Given the description of an element on the screen output the (x, y) to click on. 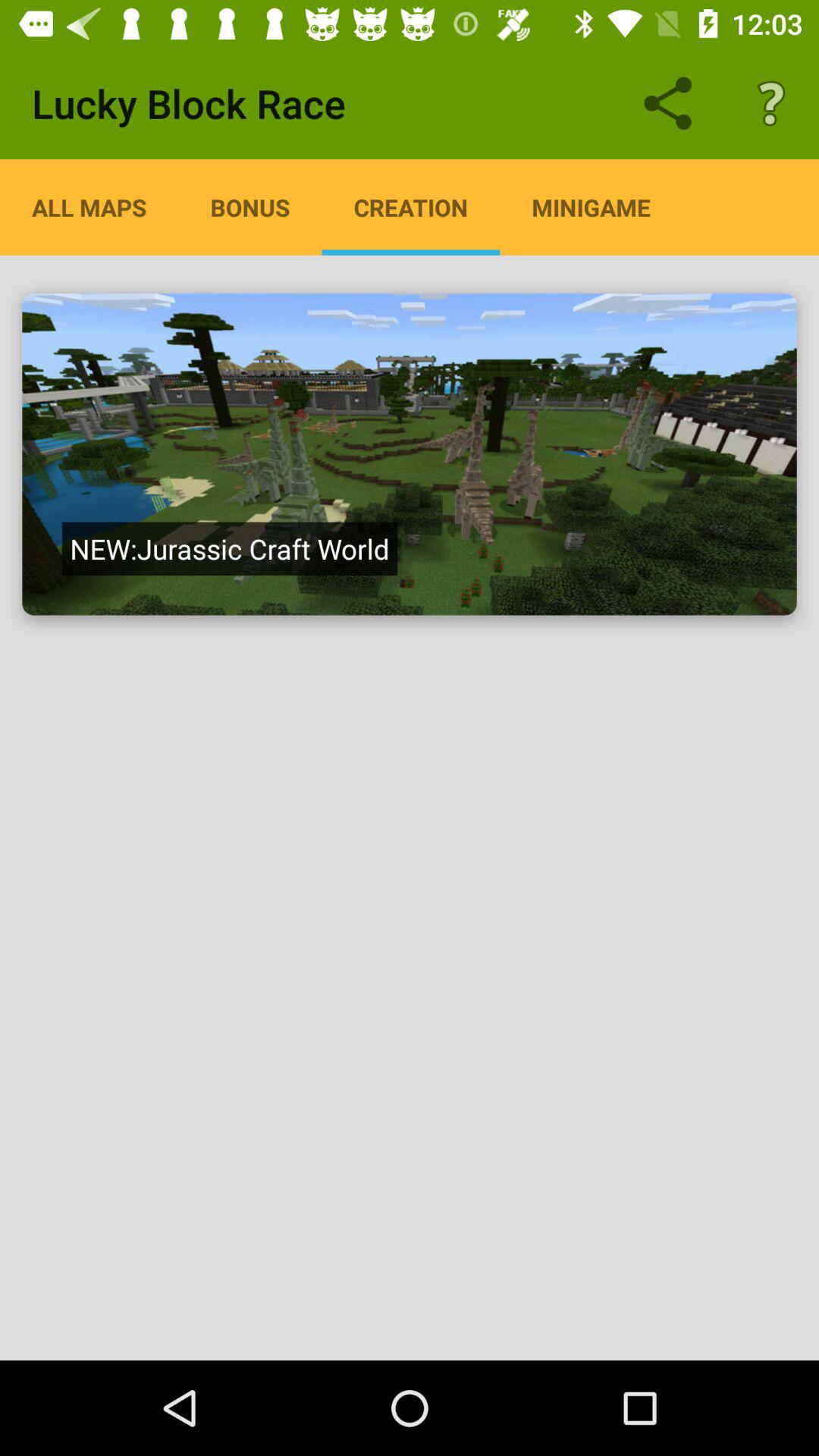
jump to bonus (249, 207)
